Given the description of an element on the screen output the (x, y) to click on. 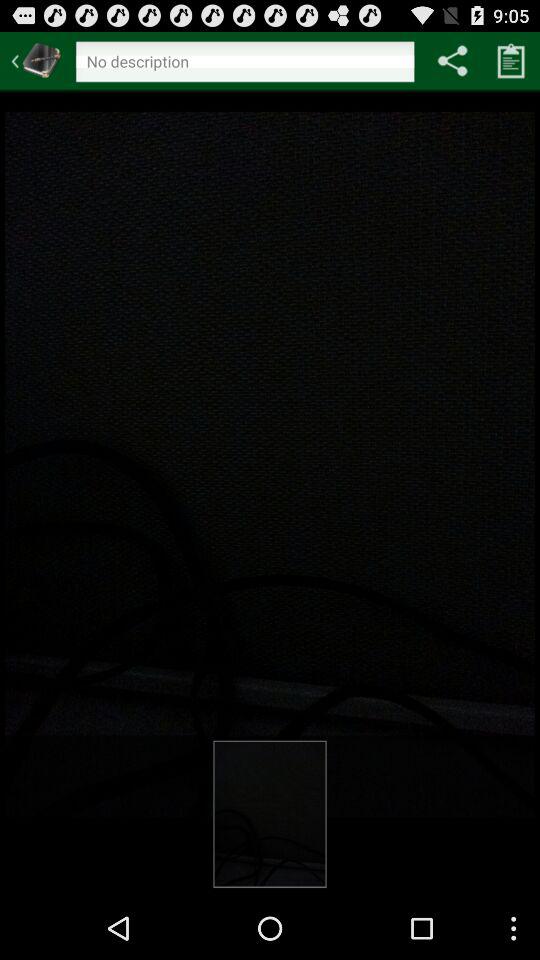
text imput for search (244, 64)
